Given the description of an element on the screen output the (x, y) to click on. 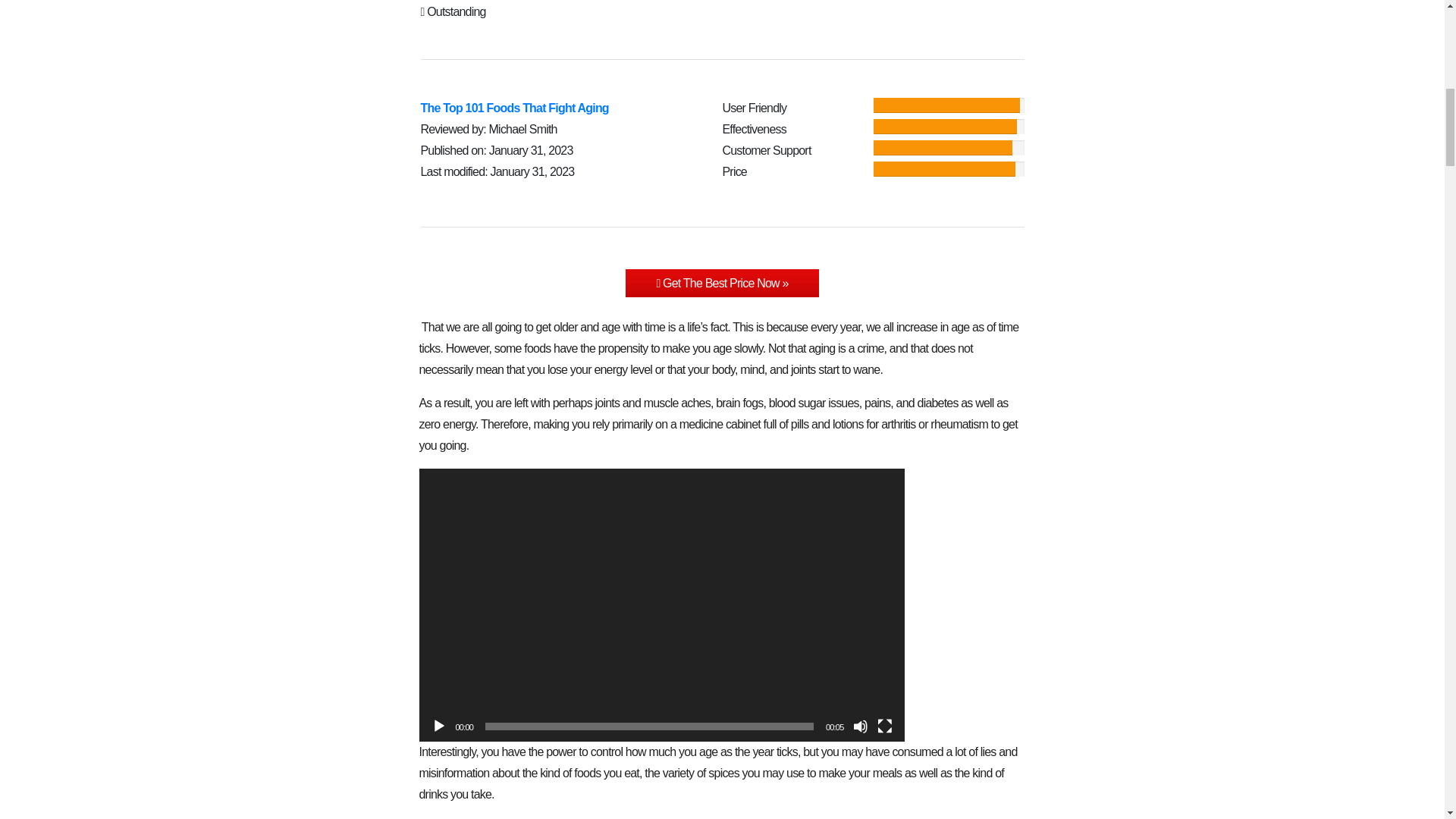
Price (733, 171)
User Friendly (754, 107)
Mute (859, 726)
The Top 101 Foods That Fight Aging (514, 107)
January 31, 2023 (531, 150)
Effectiveness (754, 128)
The Top 101 Foods That Fight Aging (722, 283)
Customer Support (766, 150)
Fullscreen (883, 726)
Play (437, 726)
Rated 4.5 (434, 0)
January 31, 2023 (532, 171)
